Given the description of an element on the screen output the (x, y) to click on. 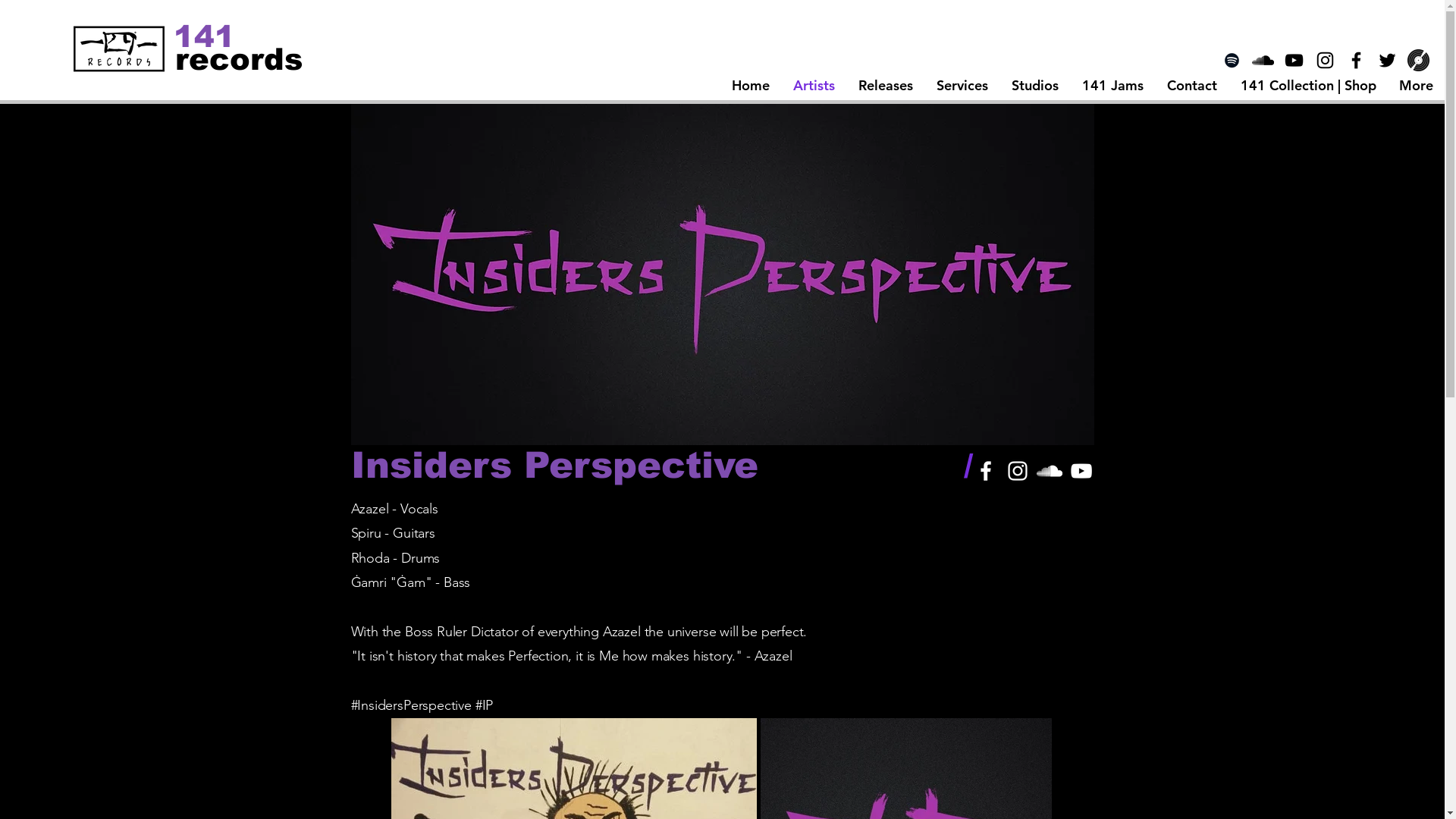
Artists Element type: text (813, 85)
records Element type: text (239, 58)
Contact Element type: text (1191, 85)
141 Jams Element type: text (1112, 85)
Services Element type: text (961, 85)
141 Collection | Shop Element type: text (1307, 85)
Home Element type: text (750, 85)
141 Element type: text (205, 36)
Studios Element type: text (1034, 85)
Releases Element type: text (885, 85)
